Given the description of an element on the screen output the (x, y) to click on. 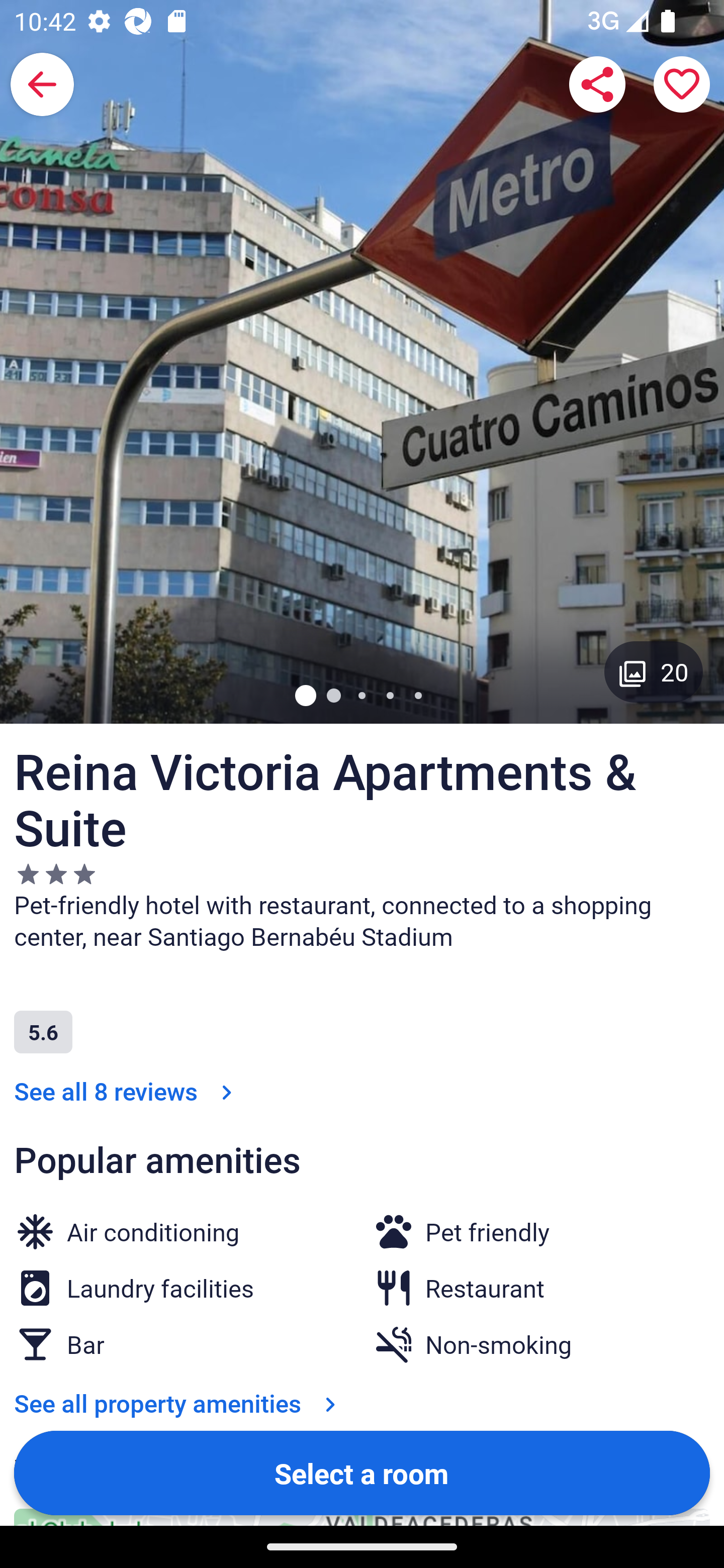
Back (42, 84)
Save property to a trip (681, 84)
Share Reina Victoria Apartments & Suite (597, 84)
Gallery button with 20 images (653, 671)
See all 8 reviews See all 8 reviews Link (126, 1090)
See all property amenities (178, 1403)
Select a room Button Select a room (361, 1472)
